Given the description of an element on the screen output the (x, y) to click on. 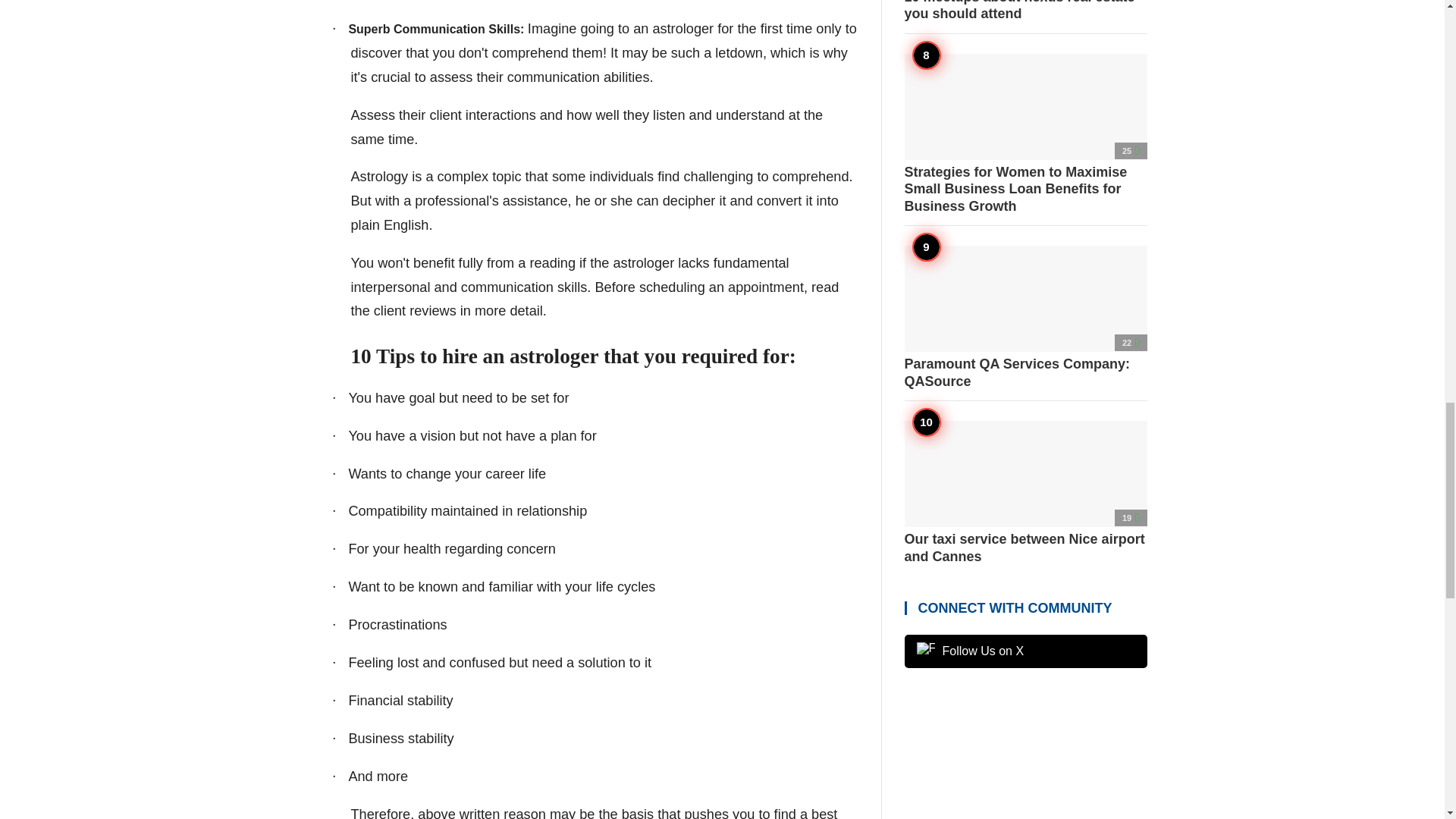
10 meetups about nexus real estate you should attend (1025, 11)
Paramount QA Services Company: QASource (1025, 317)
Our taxi service between Nice airport and Cannes (1025, 492)
